Given the description of an element on the screen output the (x, y) to click on. 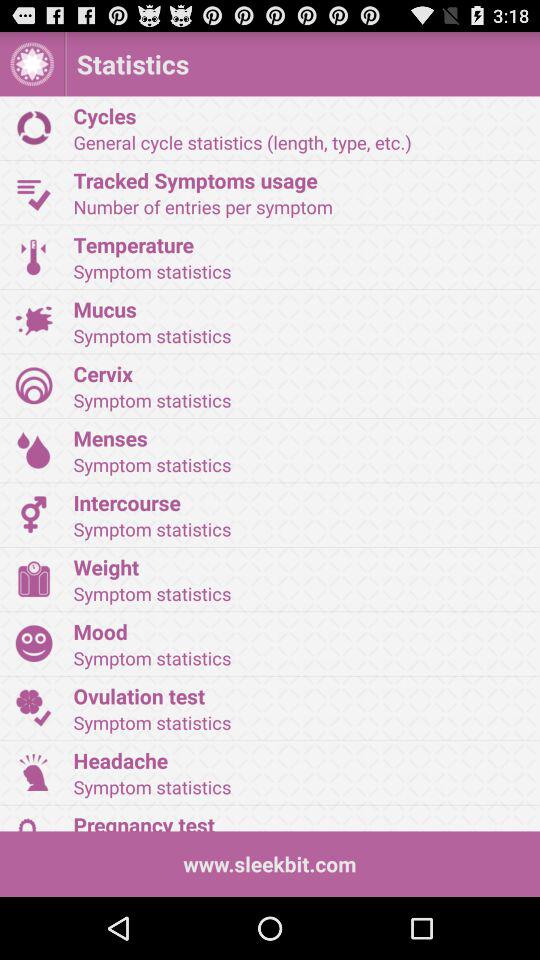
tap the item below the statistics (299, 115)
